Given the description of an element on the screen output the (x, y) to click on. 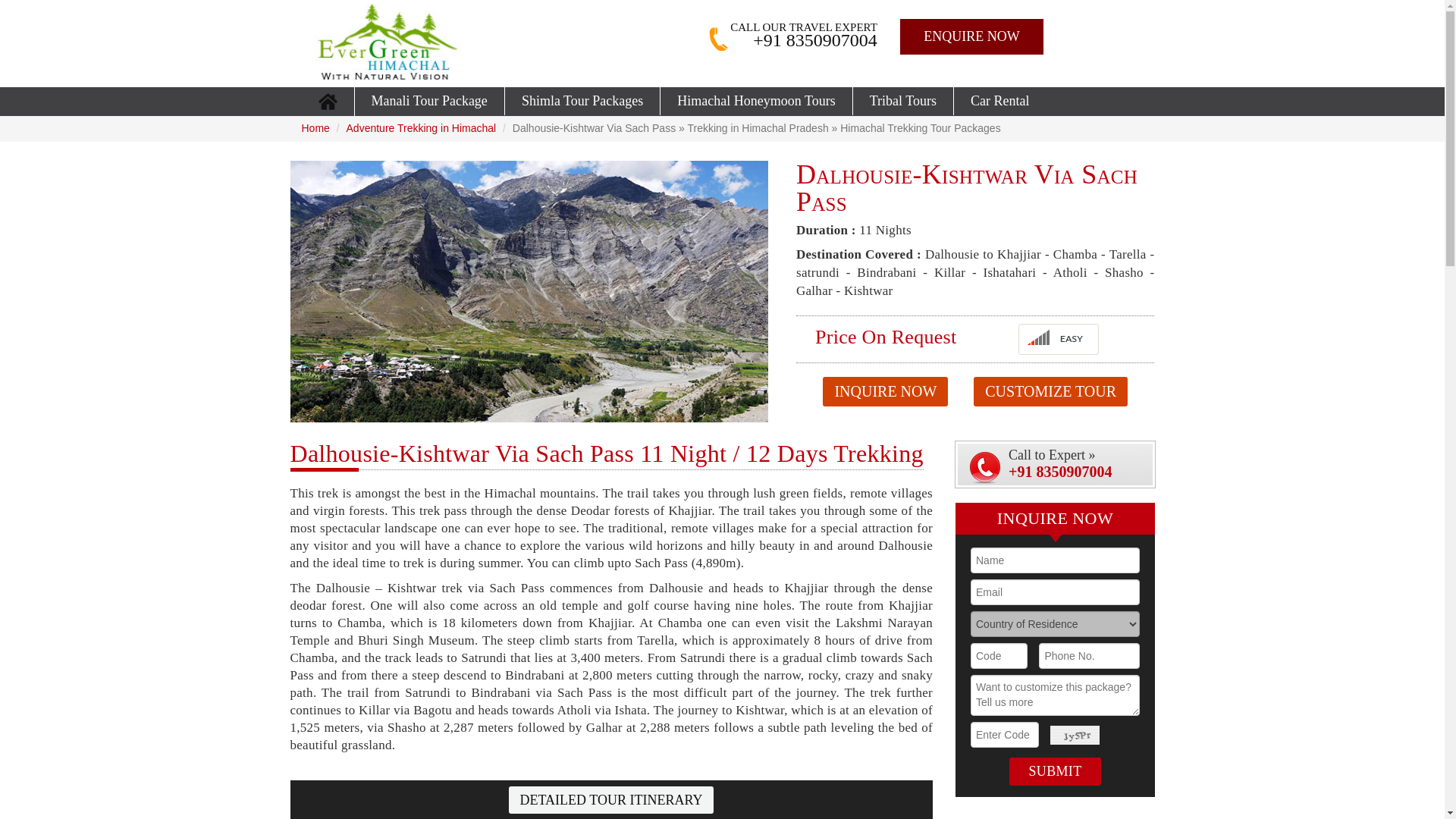
INQUIRE NOW (884, 391)
Himachal Honeymoon Tours (756, 100)
ENQUIRE NOW (971, 36)
CUSTOMIZE TOUR (1050, 391)
Submit (1054, 771)
DETAILED TOUR ITINERARY (611, 800)
Submit (1054, 771)
Shimla Tour Packages (582, 100)
Adventure Trekking in Himachal (421, 128)
Home (315, 128)
Car Rental (999, 100)
Tribal Tours (903, 100)
Manali Tour Package (429, 100)
